Given the description of an element on the screen output the (x, y) to click on. 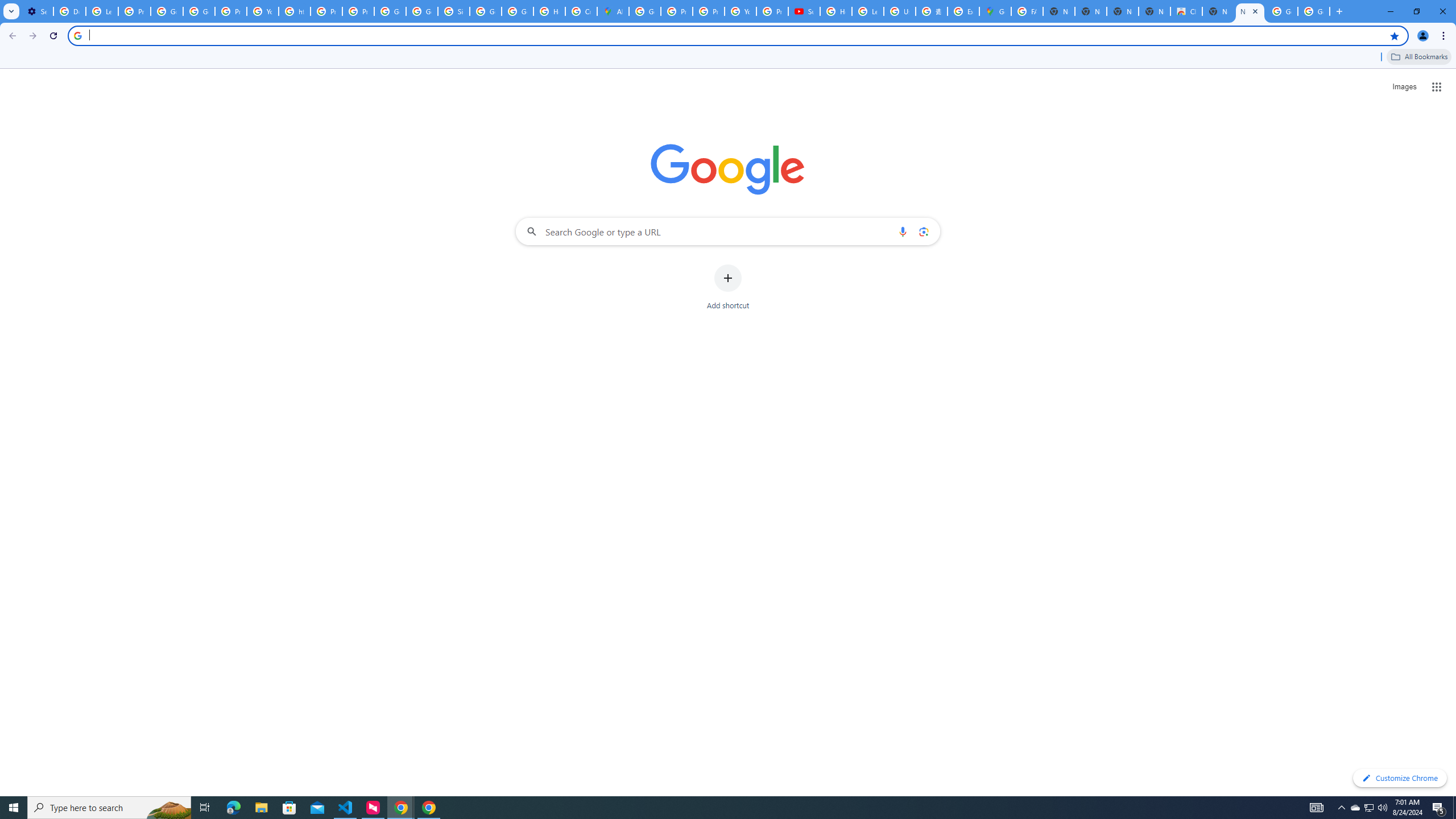
Google Images (1281, 11)
How Chrome protects your passwords - Google Chrome Help (836, 11)
Settings - On startup (37, 11)
YouTube (262, 11)
